Given the description of an element on the screen output the (x, y) to click on. 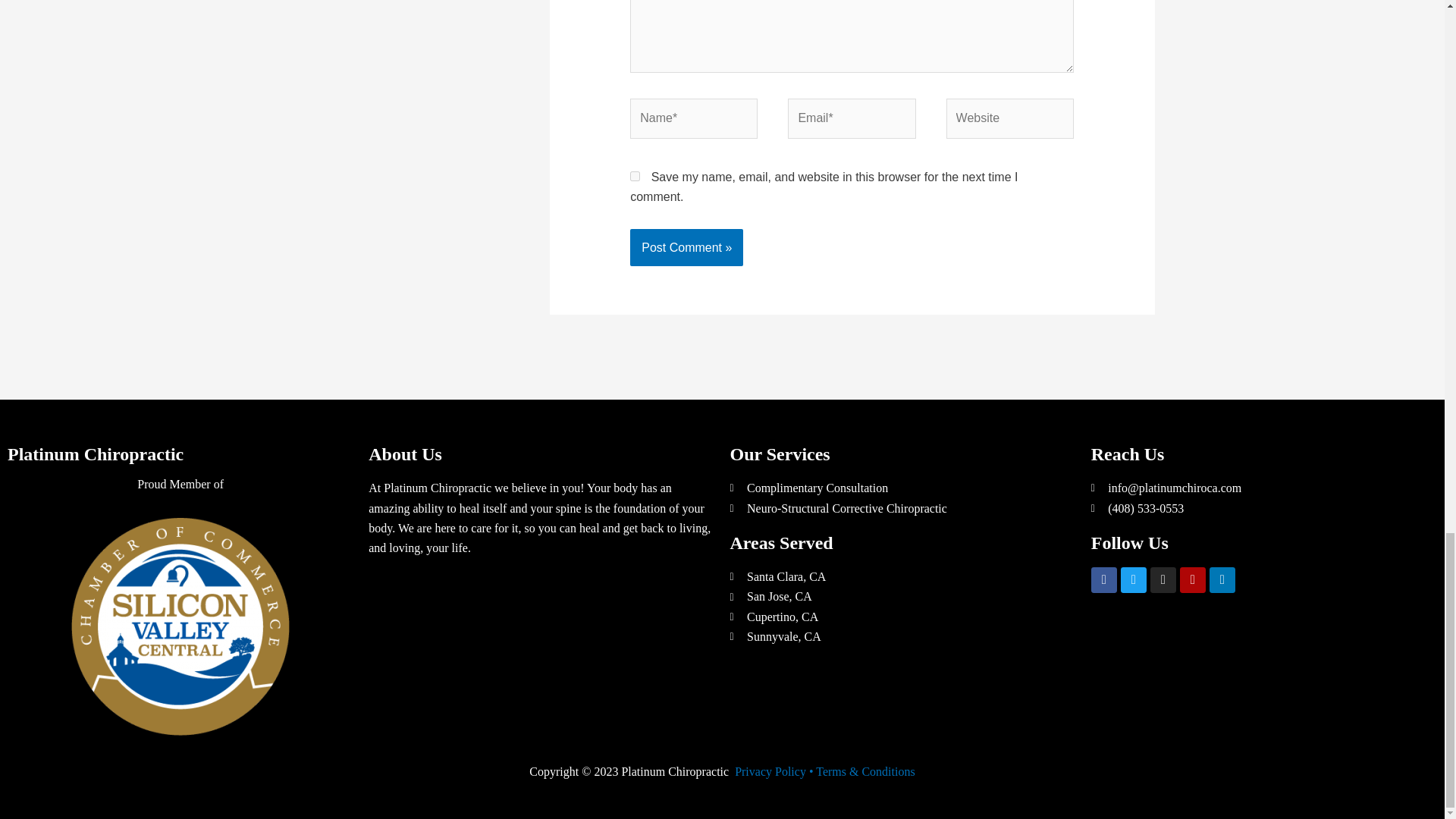
yes (635, 175)
